Given the description of an element on the screen output the (x, y) to click on. 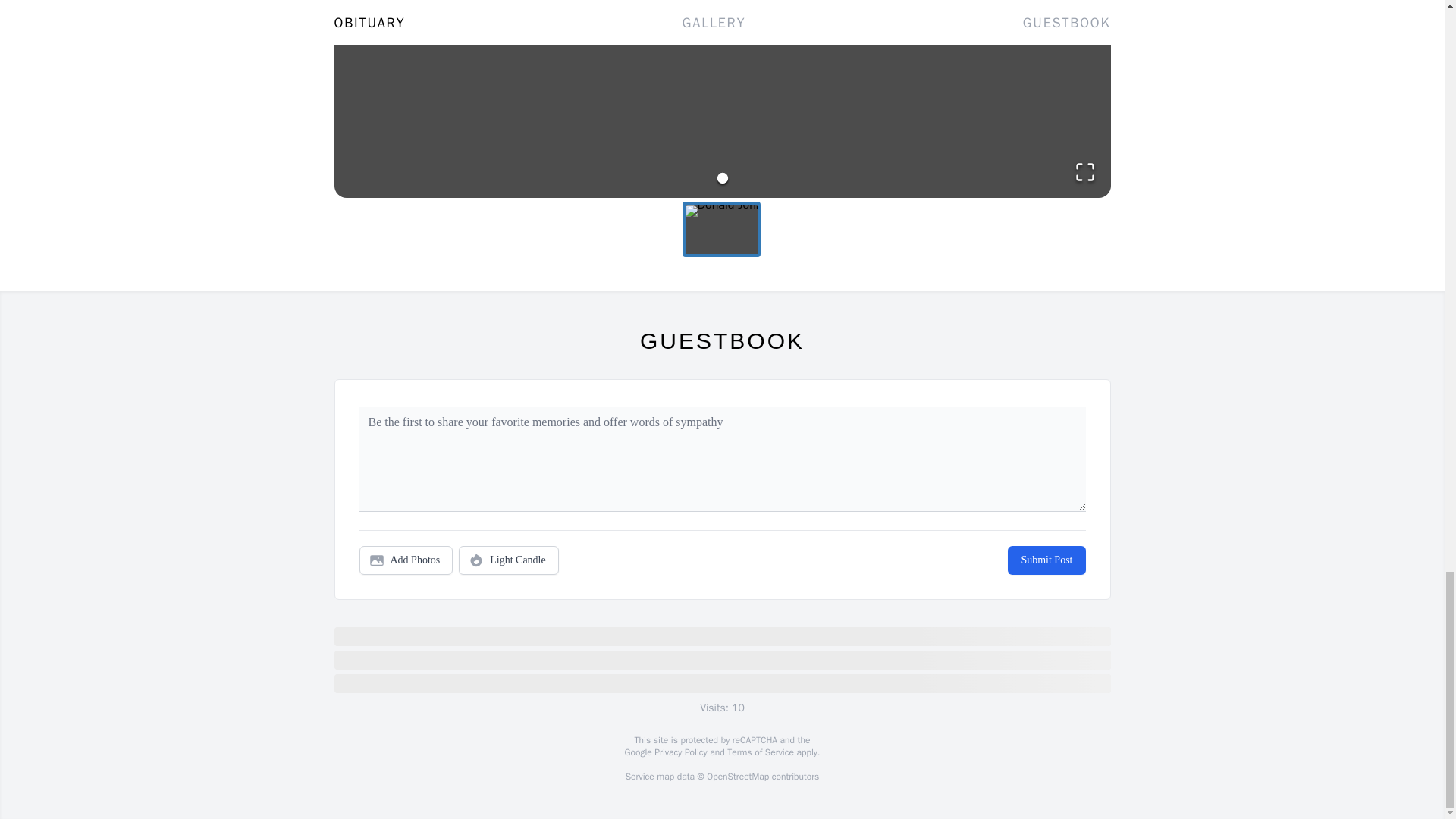
Light Candle (508, 560)
Add Photos (405, 560)
Privacy Policy (679, 752)
Submit Post (1045, 560)
OpenStreetMap (737, 776)
Terms of Service (759, 752)
